Given the description of an element on the screen output the (x, y) to click on. 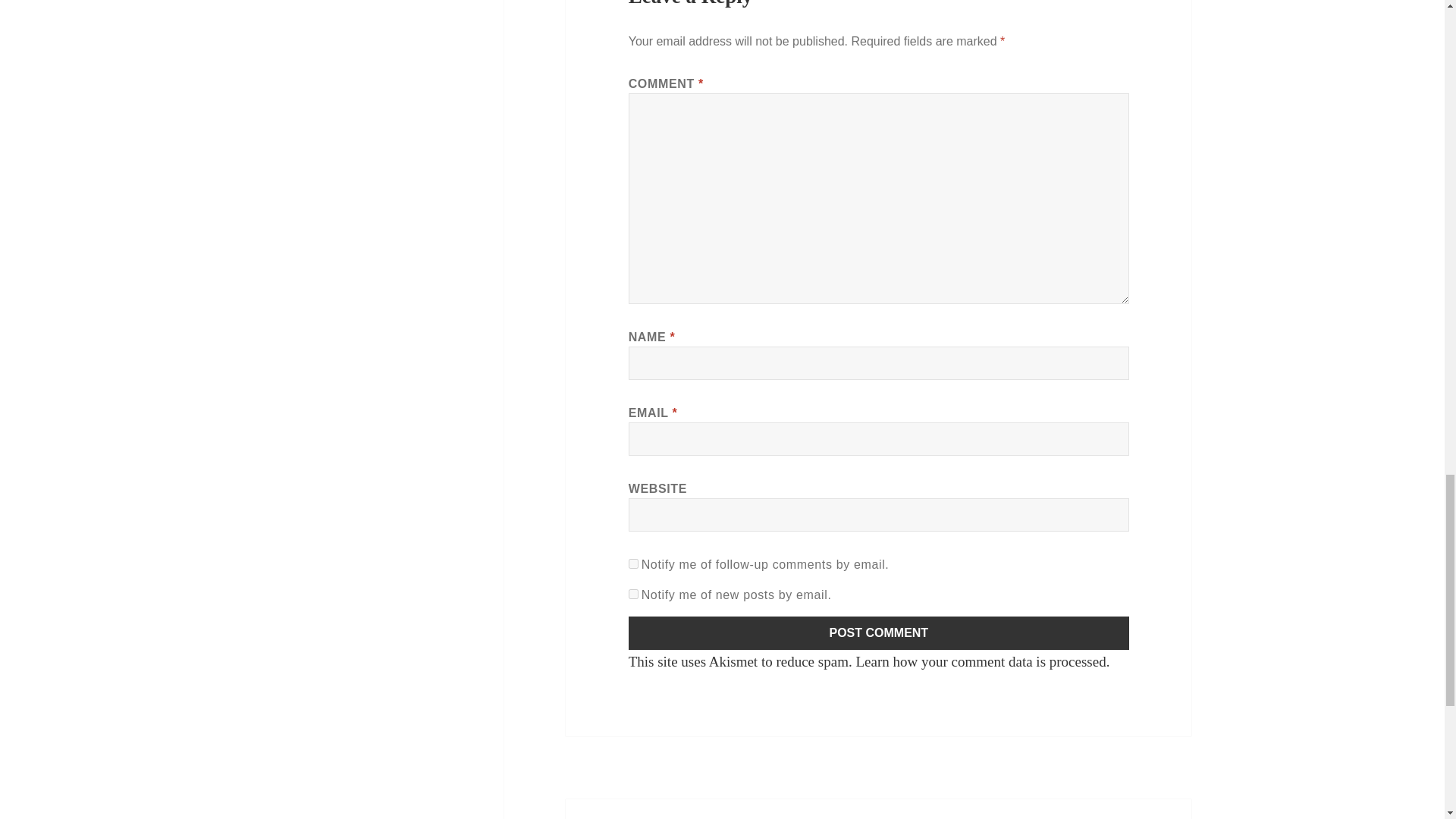
Post Comment (878, 633)
subscribe (633, 593)
Post Comment (878, 809)
subscribe (878, 633)
Learn how your comment data is processed (633, 563)
